Given the description of an element on the screen output the (x, y) to click on. 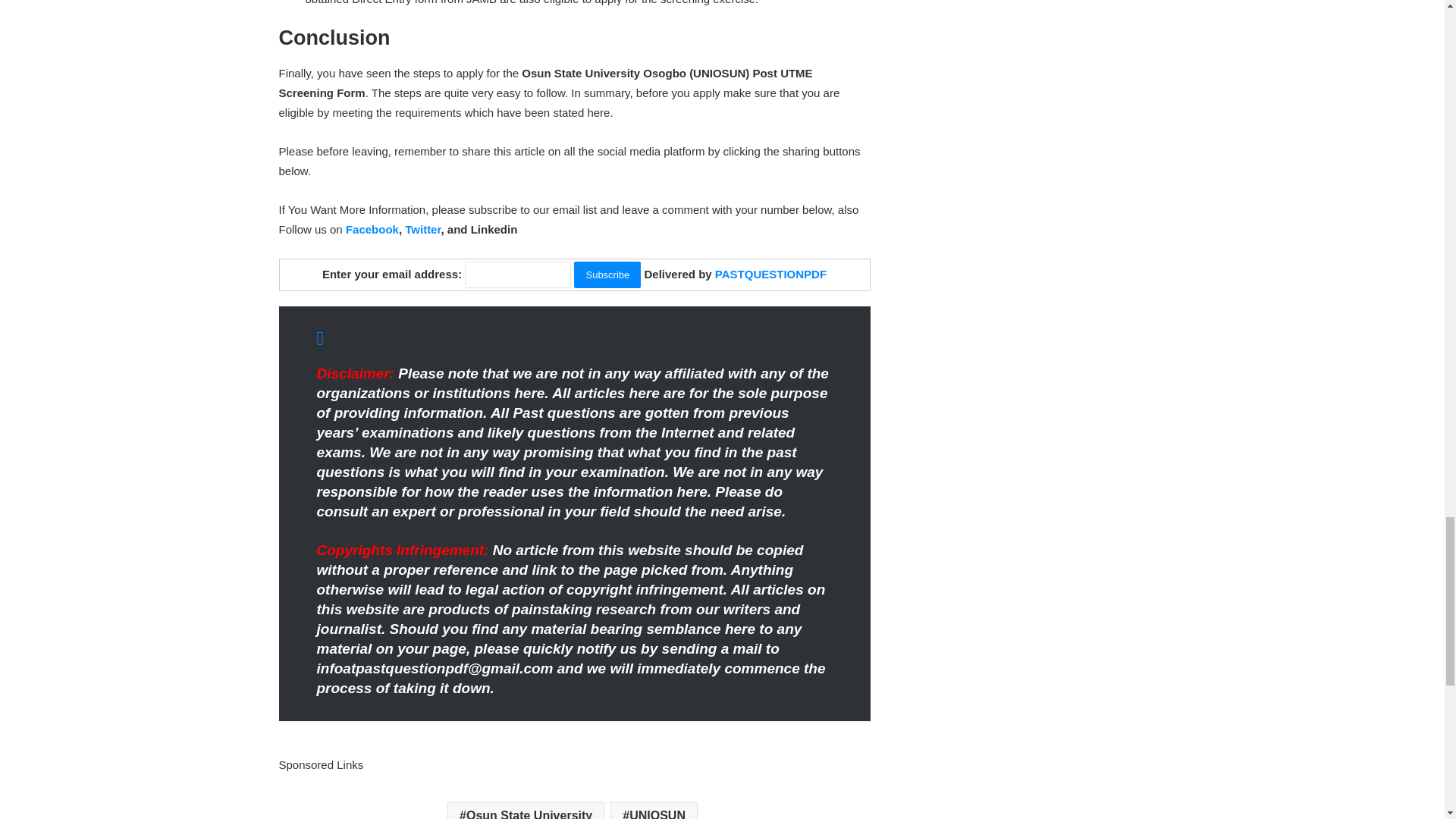
Facebook (372, 228)
Twitter (422, 228)
PASTQUESTIONPDF (770, 273)
UNIOSUN (653, 810)
Osun State University (525, 810)
Subscribe (606, 274)
Subscribe (606, 274)
